Given the description of an element on the screen output the (x, y) to click on. 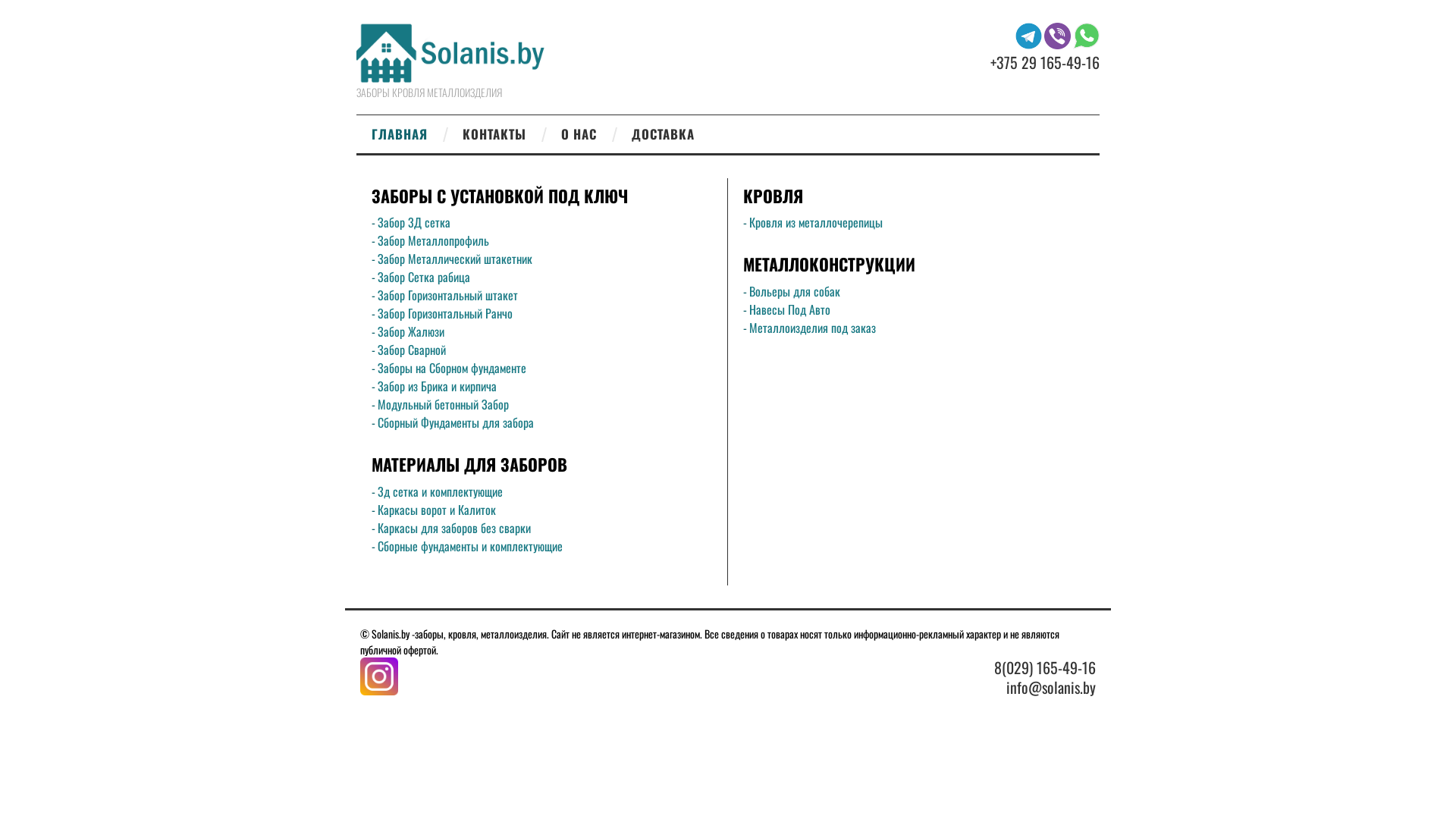
+375 29 165-49-16 Element type: text (1044, 62)
info@solanis.by Element type: text (1050, 686)
8(029) 165-49-16 Element type: text (1044, 667)
